Given the description of an element on the screen output the (x, y) to click on. 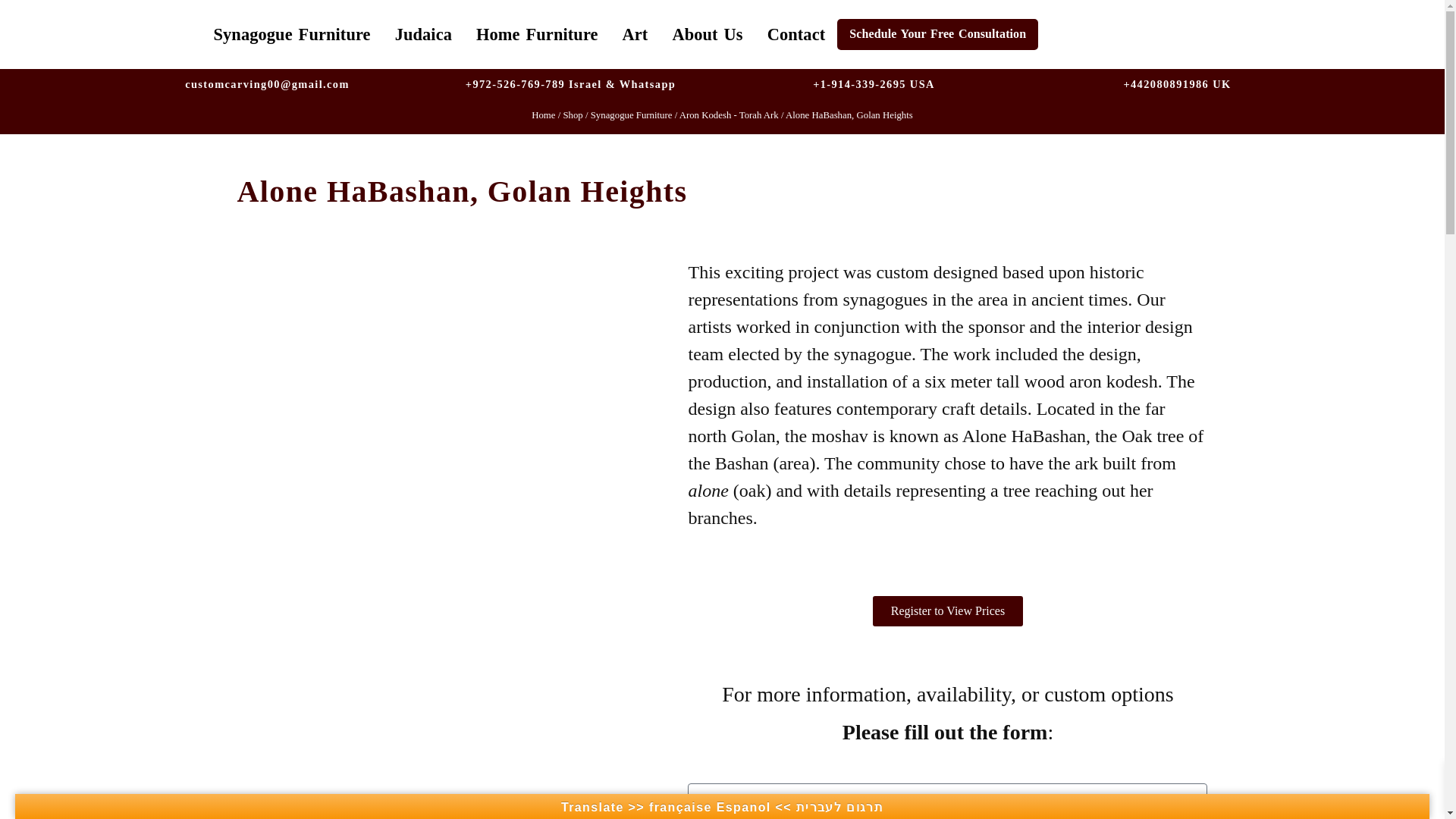
Art (635, 33)
Custom Home  Furniture (537, 33)
Schedule Your Free Consultation (937, 33)
Synagogue Furniture (292, 33)
Contact (796, 33)
About Us (706, 33)
Home Furniture (537, 33)
Judaica (423, 33)
